Given the description of an element on the screen output the (x, y) to click on. 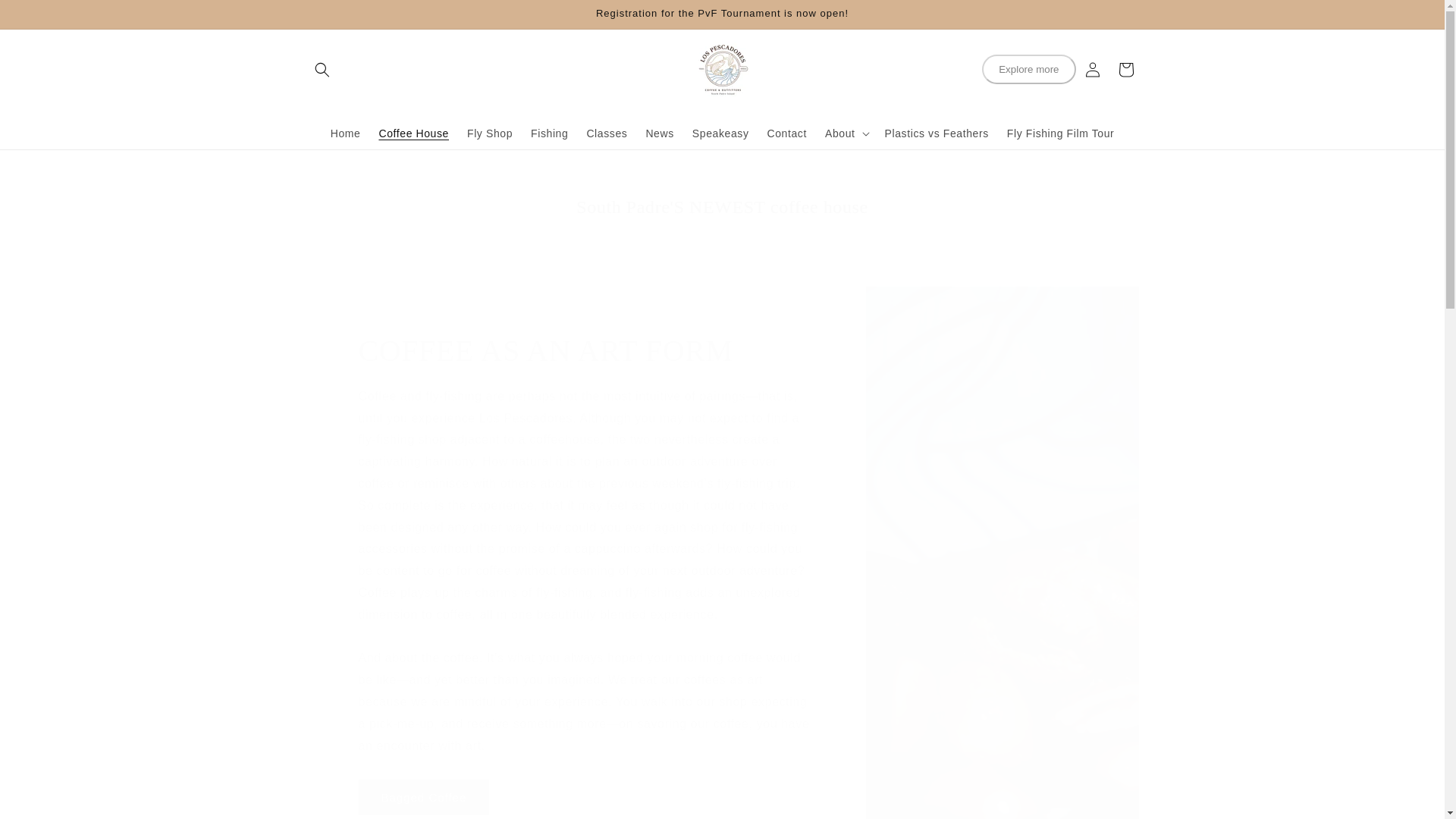
Explore more (1028, 69)
Skip to content (45, 17)
Fly Shop (489, 132)
Fishing (548, 132)
South Padre'S NEWEST coffee house (721, 207)
News (659, 132)
Plastics vs Feathers (936, 132)
Explore more (1028, 69)
Speakeasy (720, 132)
Classes (606, 132)
Home (345, 132)
Coffee House (413, 132)
Fly Fishing Film Tour (1059, 132)
Contact (786, 132)
